Given the description of an element on the screen output the (x, y) to click on. 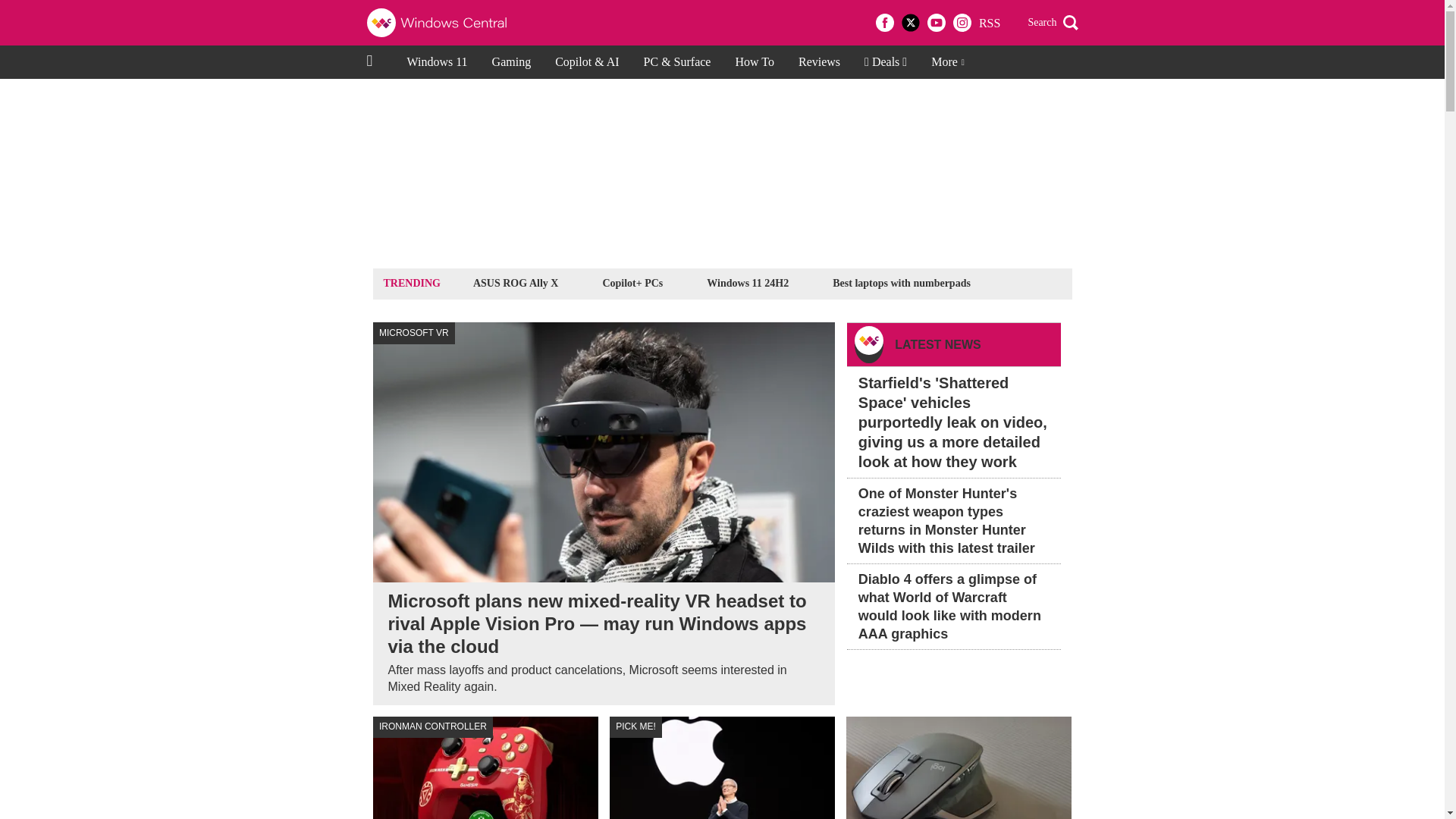
RSS (989, 22)
Windows Central (441, 22)
Windows 11 (436, 61)
PICK ME! (636, 727)
MICROSOFT VR (413, 332)
Gaming (511, 61)
Windows 11 24H2 (747, 282)
Reviews (818, 61)
